Given the description of an element on the screen output the (x, y) to click on. 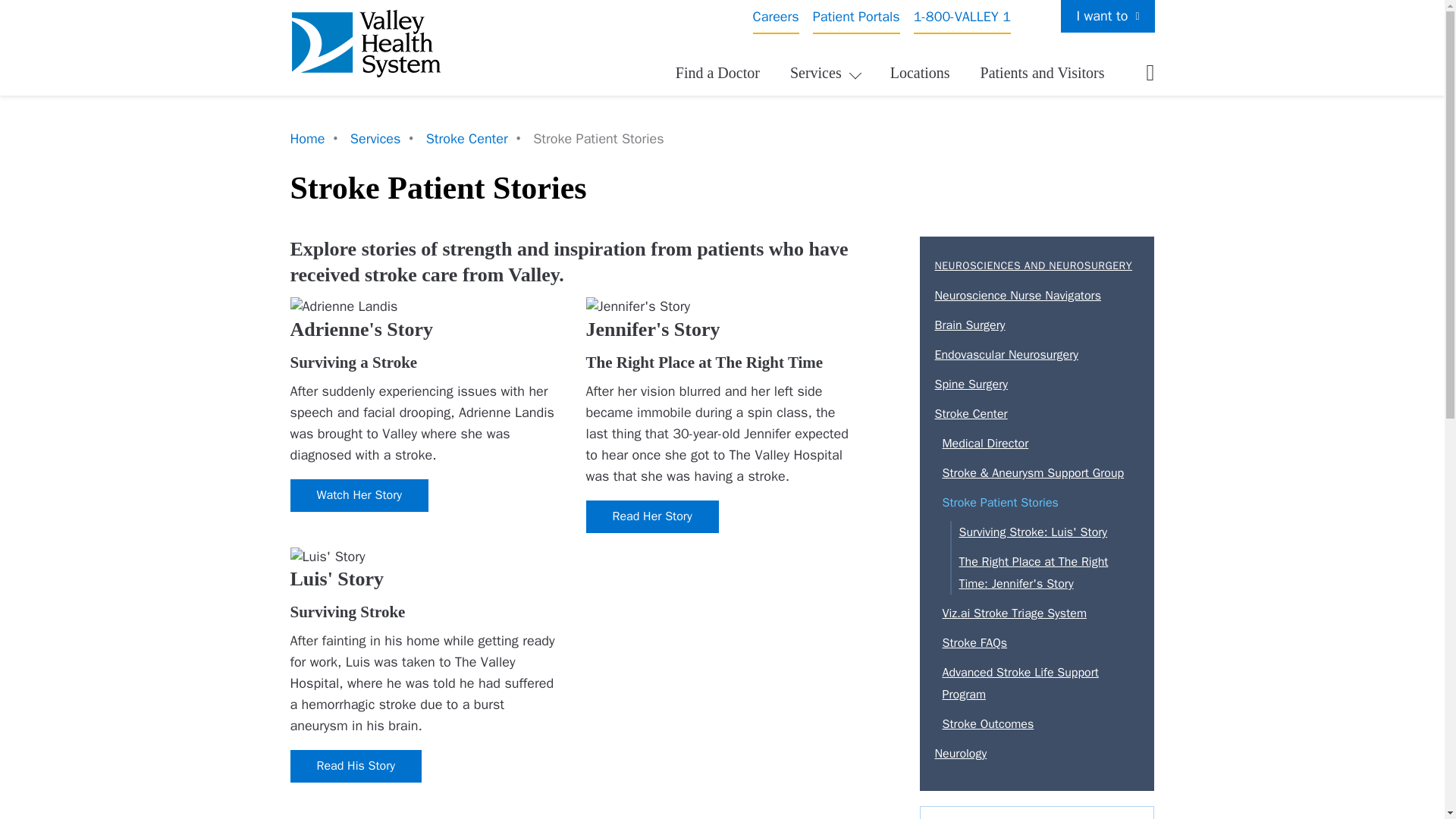
Find a Doctor (717, 72)
Services (824, 72)
Careers (775, 17)
1-800-VALLEY 1 (962, 17)
Patient Portals (855, 17)
